Given the description of an element on the screen output the (x, y) to click on. 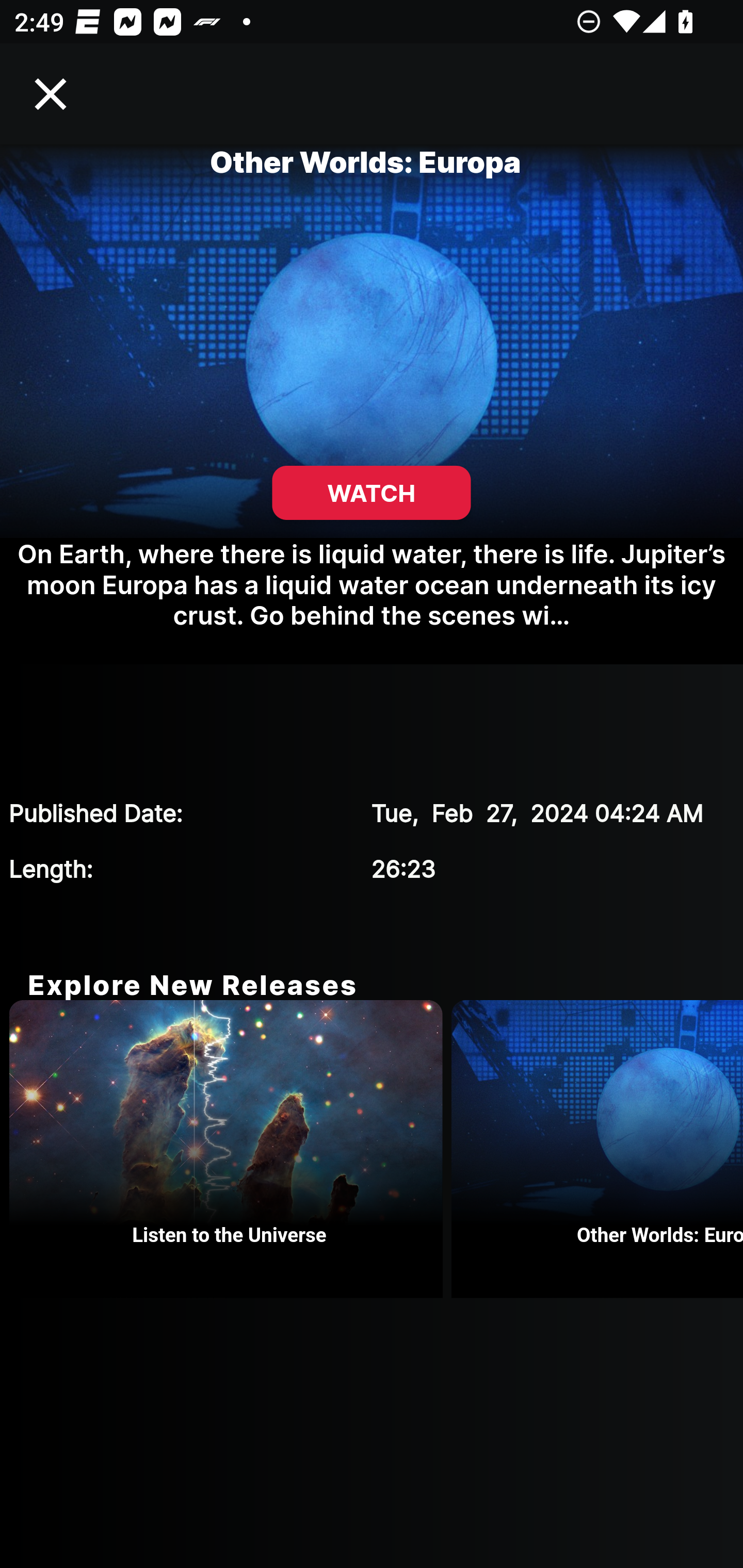
WATCH (371, 492)
Listen to the Universe (229, 1149)
Other Worlds: Europa (597, 1149)
